Given the description of an element on the screen output the (x, y) to click on. 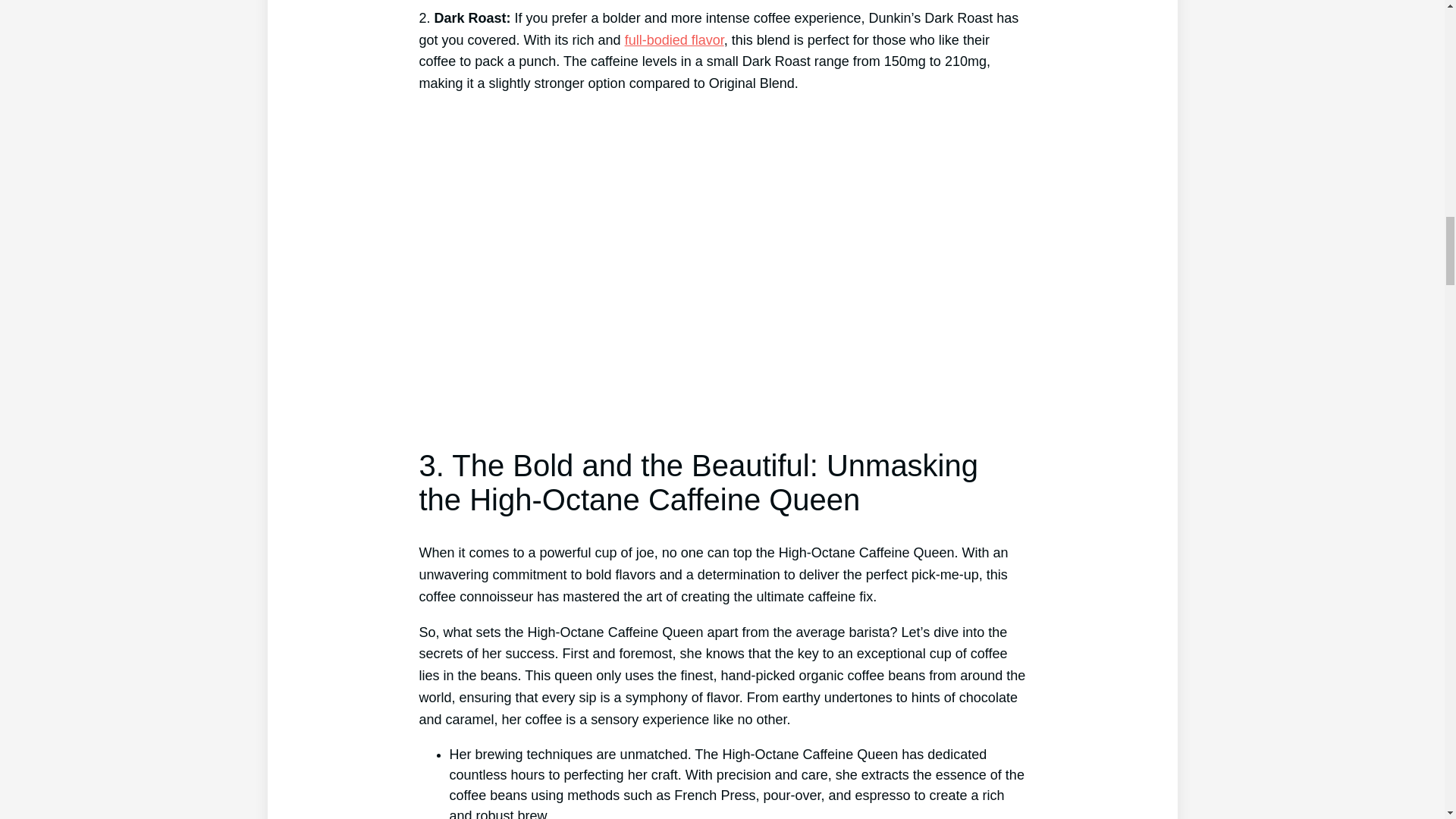
Which Milk Tea Has No Caffeine? Milk Tea Choices (673, 39)
